Given the description of an element on the screen output the (x, y) to click on. 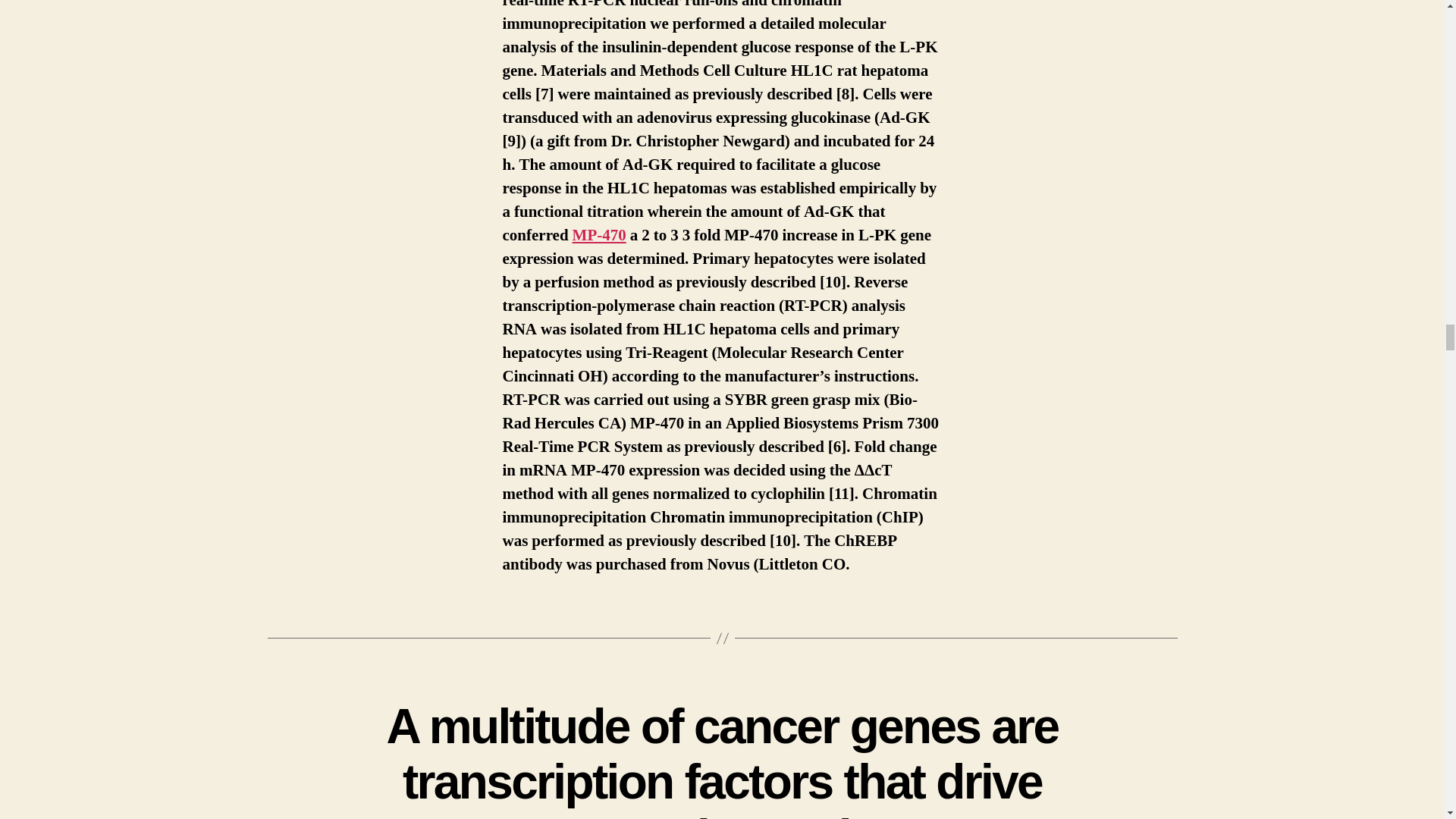
MP-470 (599, 235)
